Given the description of an element on the screen output the (x, y) to click on. 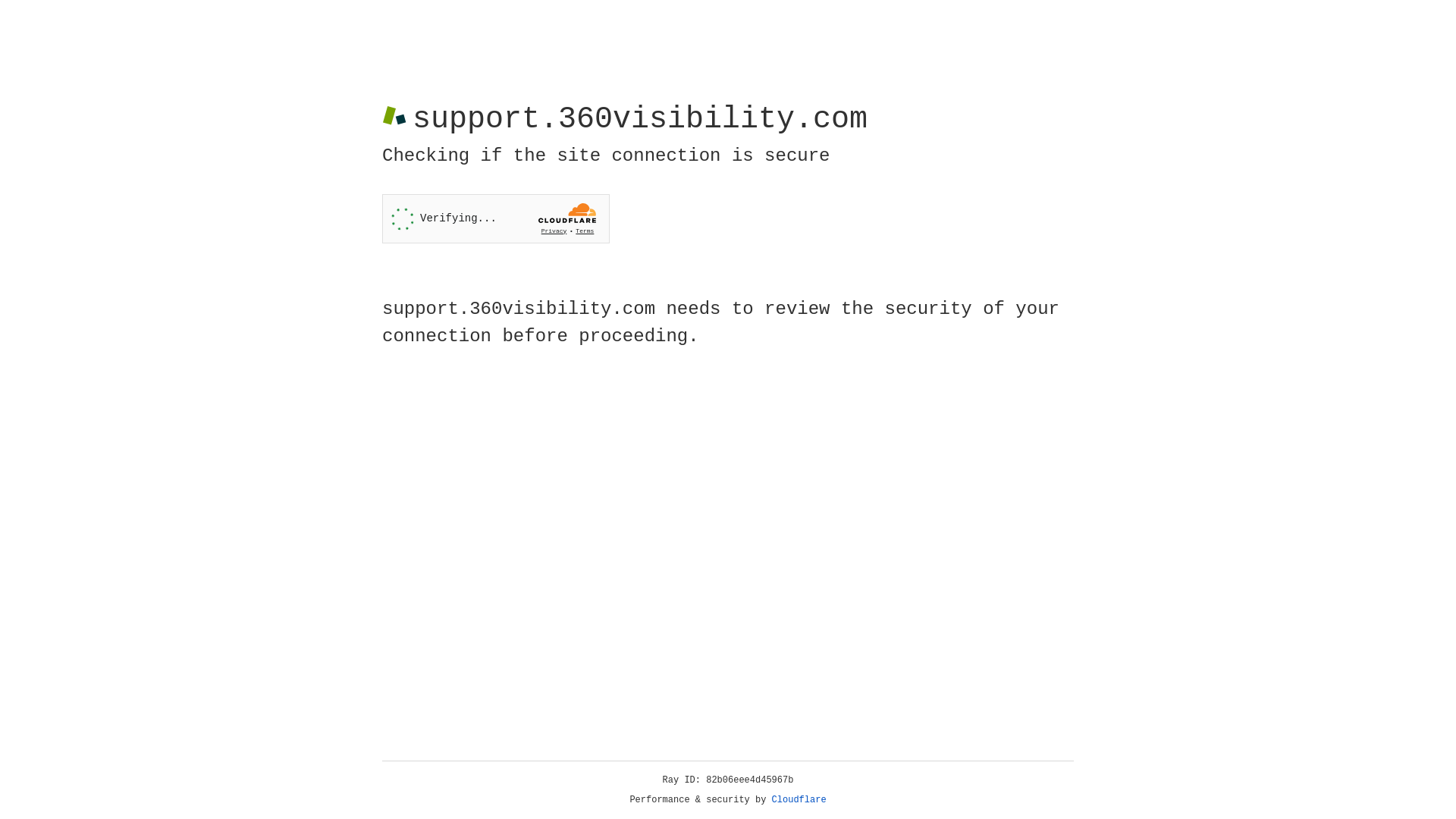
Widget containing a Cloudflare security challenge Element type: hover (495, 218)
Cloudflare Element type: text (798, 799)
